Given the description of an element on the screen output the (x, y) to click on. 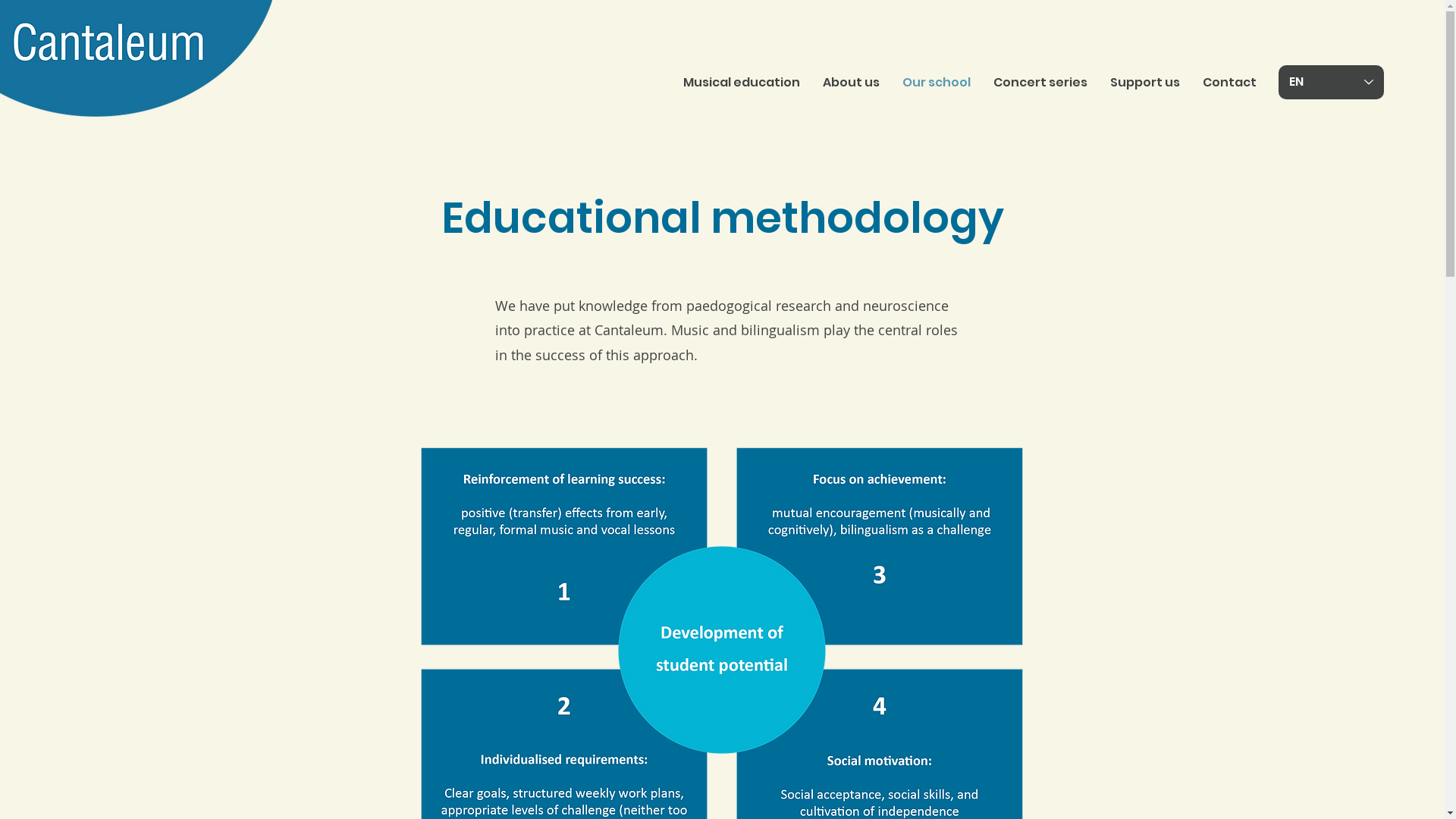
Support us Element type: text (1144, 82)
Musical education Element type: text (741, 82)
Contact Element type: text (1229, 82)
Our school Element type: text (936, 82)
About us Element type: text (851, 82)
Concert series Element type: text (1040, 82)
